Given the description of an element on the screen output the (x, y) to click on. 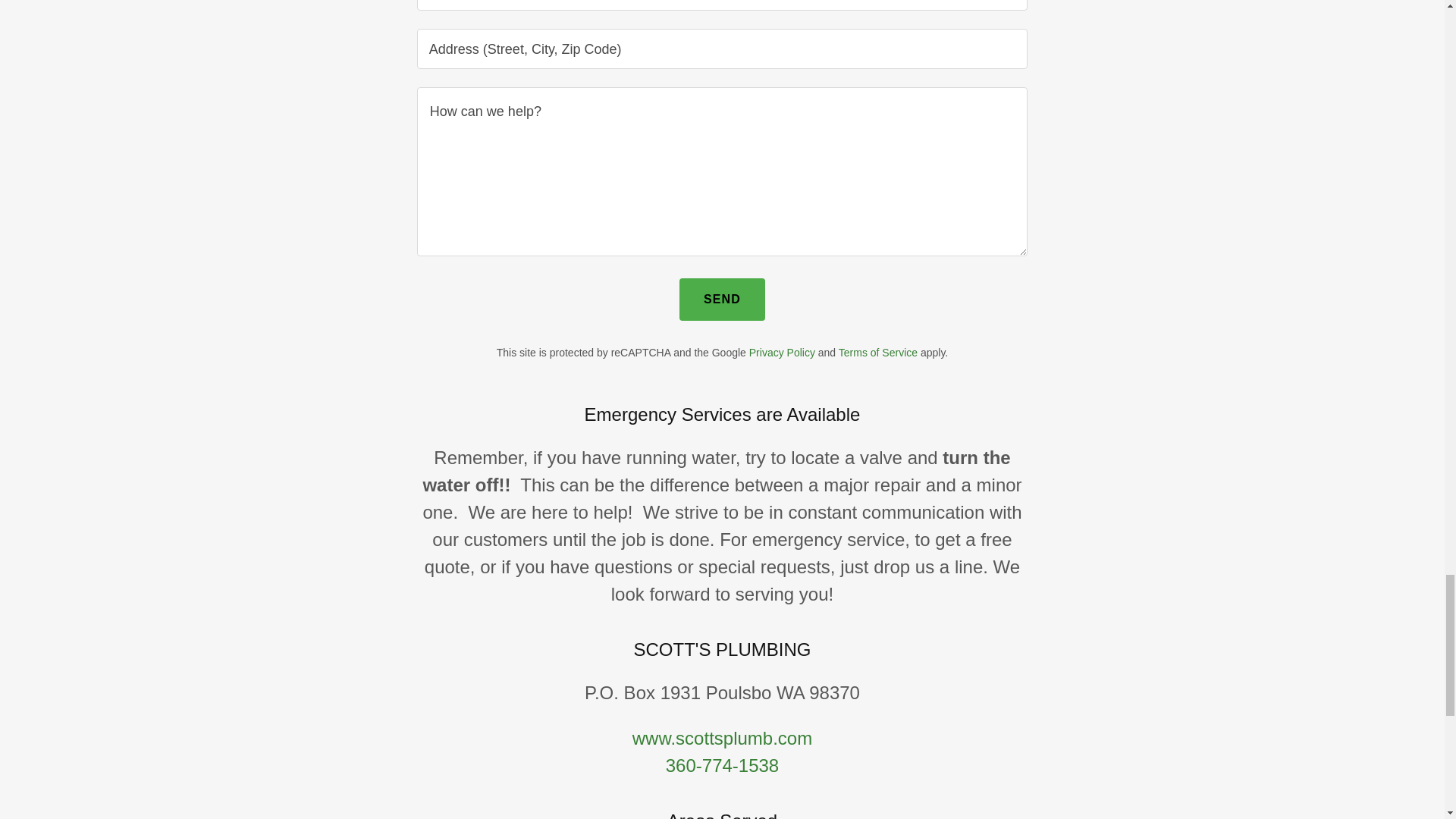
360-774-1538 (721, 765)
SEND (722, 299)
www.scottsplumb.com (721, 738)
Privacy Policy (782, 352)
Terms of Service (877, 352)
